Given the description of an element on the screen output the (x, y) to click on. 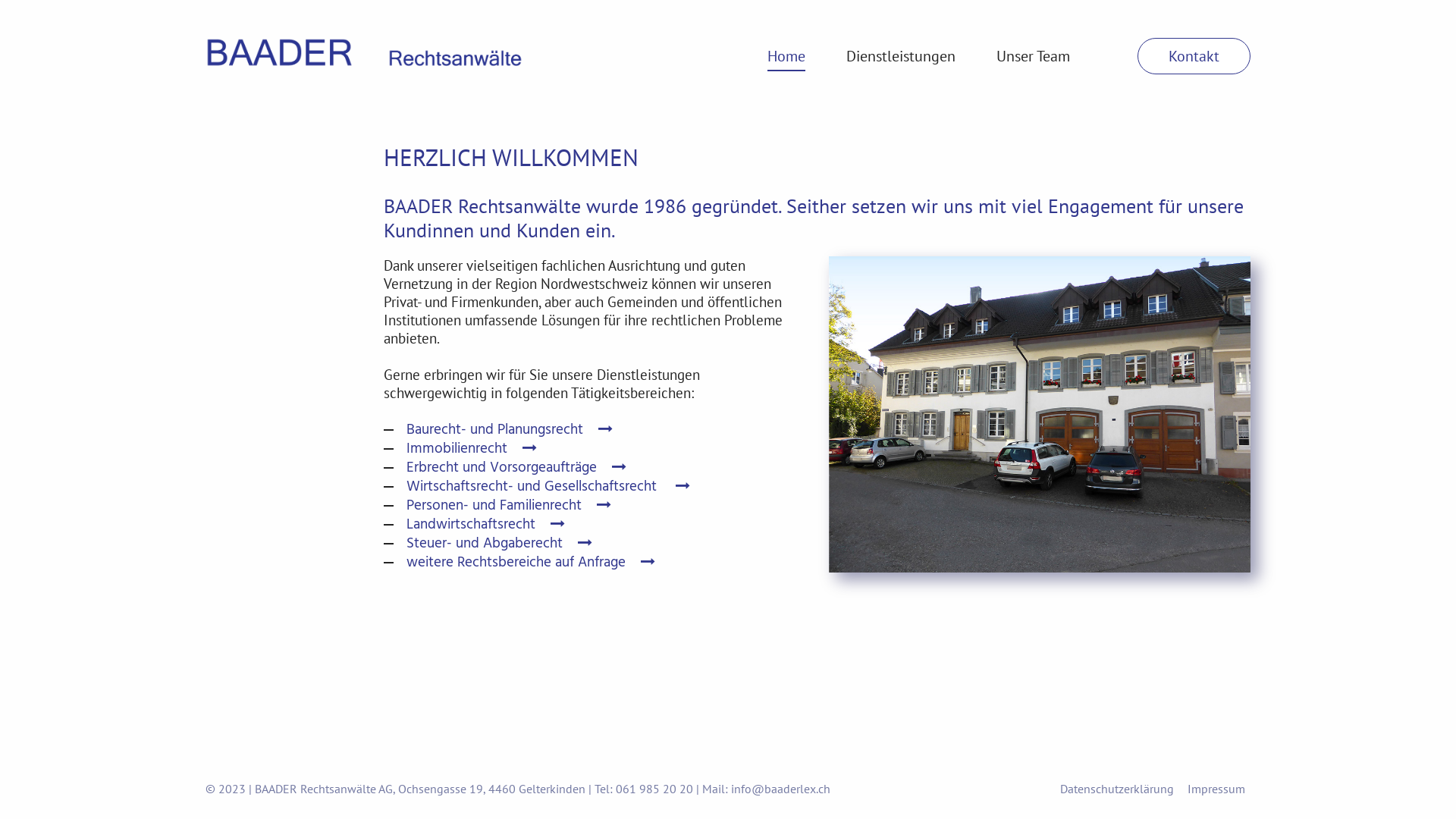
Impressum Element type: text (1216, 788)
weitere Rechtsbereiche auf Anfrage Element type: text (530, 562)
info@baaderlex.ch Element type: text (780, 788)
Kontakt Element type: text (1193, 55)
Personen- und Familienrecht Element type: text (508, 505)
Baurecht- und Planungsrecht Element type: text (509, 429)
Steuer- und Abgaberecht Element type: text (499, 543)
Home Element type: text (786, 63)
Wirtschaftsrecht- und Gesellschaftsrecht Element type: text (548, 486)
Immobilienrecht Element type: text (471, 448)
Landwirtschaftsrecht Element type: text (485, 524)
Unser Team Element type: text (1033, 63)
Dienstleistungen Element type: text (900, 63)
